Given the description of an element on the screen output the (x, y) to click on. 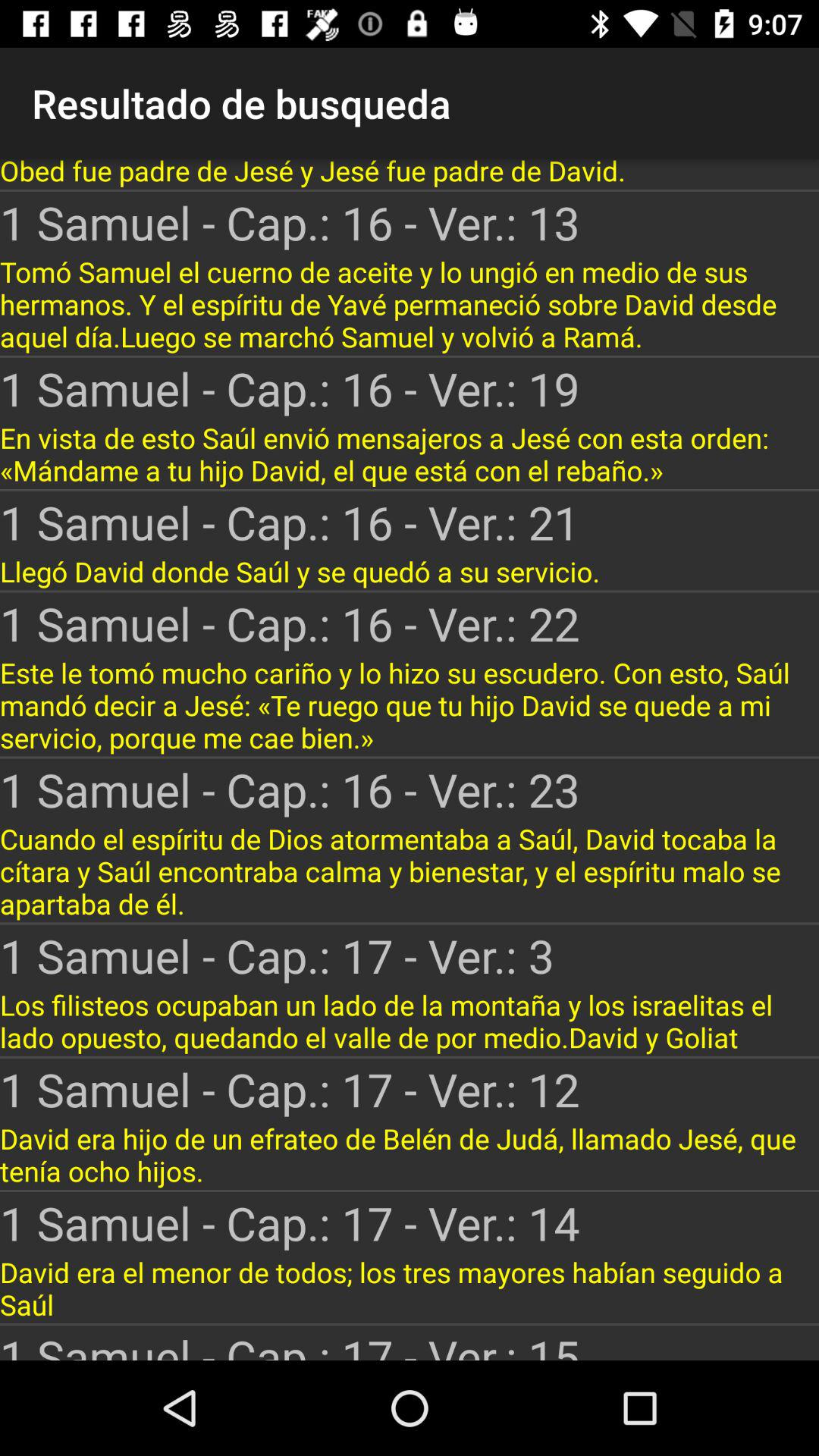
click los filisteos ocupaban app (409, 1021)
